Given the description of an element on the screen output the (x, y) to click on. 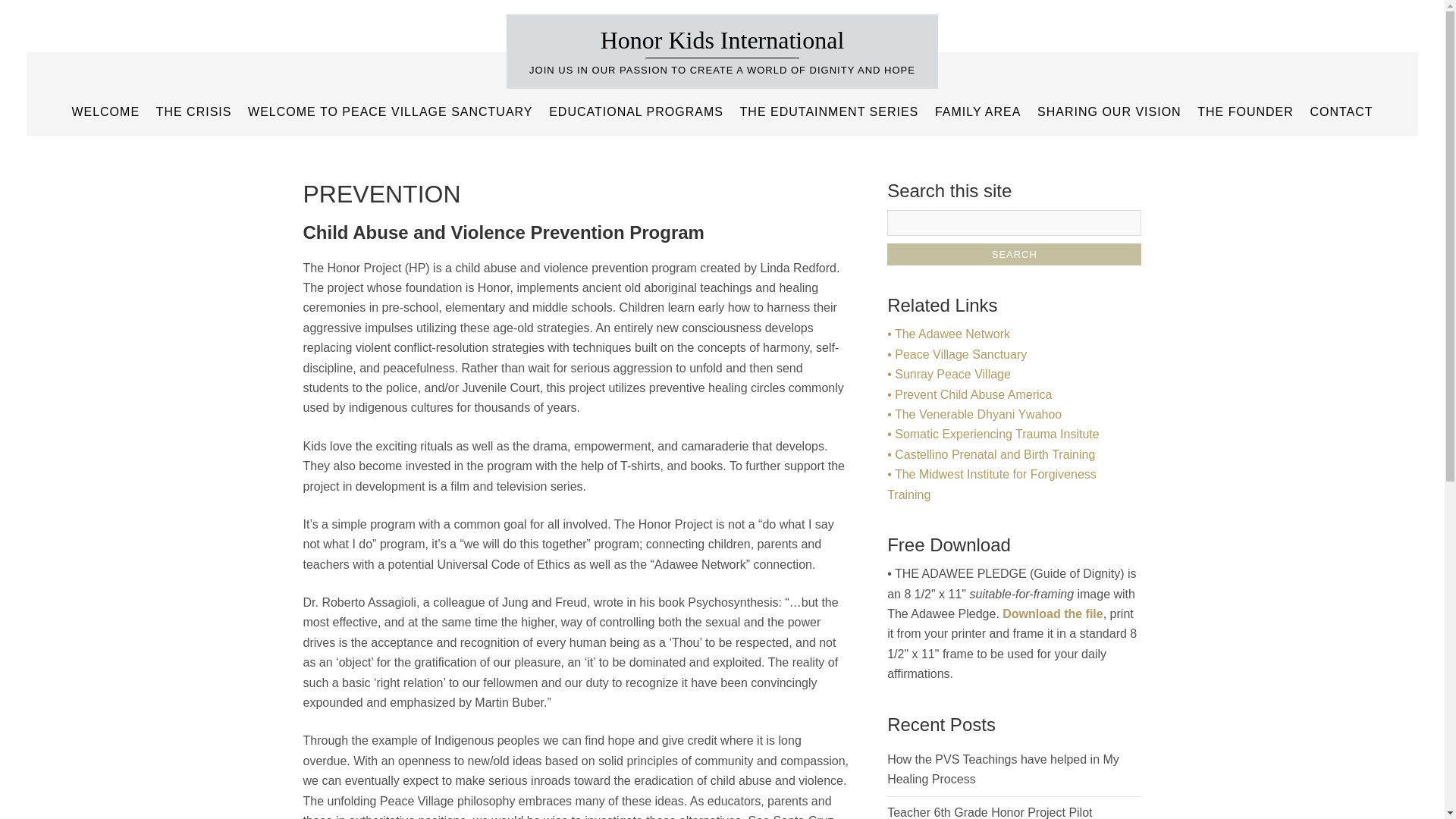
FAMILY AREA (977, 112)
Search (1013, 254)
SHARING OUR VISION (1109, 112)
THE EDUTAINMENT SERIES (829, 112)
Search (1013, 254)
Search (1013, 254)
CONTACT (1340, 112)
THE CRISIS (193, 112)
WELCOME TO PEACE VILLAGE SANCTUARY (389, 112)
